Given the description of an element on the screen output the (x, y) to click on. 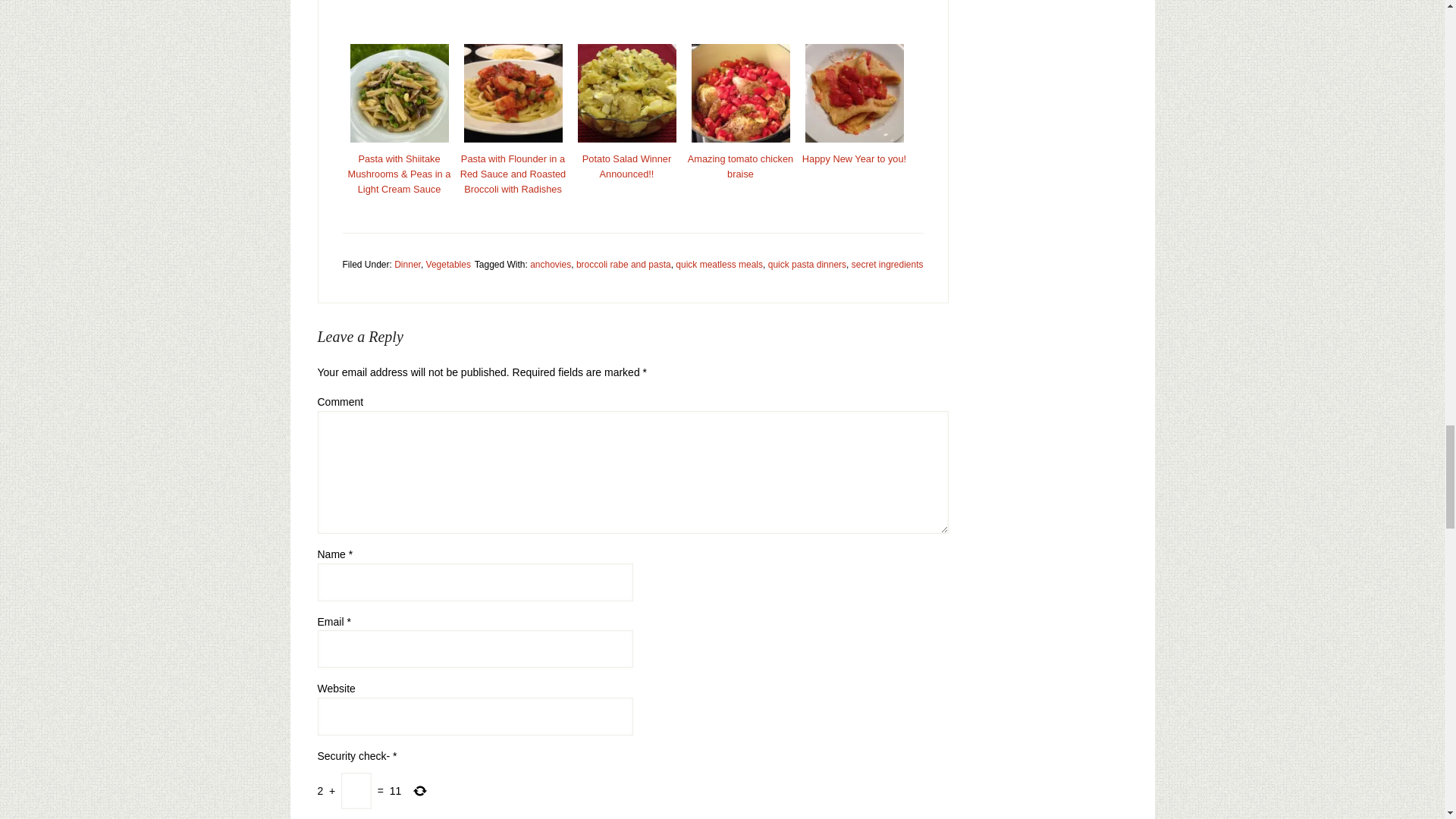
Permanent Link toPotato Salad Winner Announced!! (626, 166)
Dinner (407, 264)
Potato Salad Winner Announced!! (626, 166)
broccoli rabe and pasta (623, 264)
secret ingredients (887, 264)
quick meatless meals (718, 264)
quick pasta dinners (806, 264)
Permanent Link toAmazing tomato chicken braise (740, 166)
Amazing tomato chicken braise (740, 166)
